Given the description of an element on the screen output the (x, y) to click on. 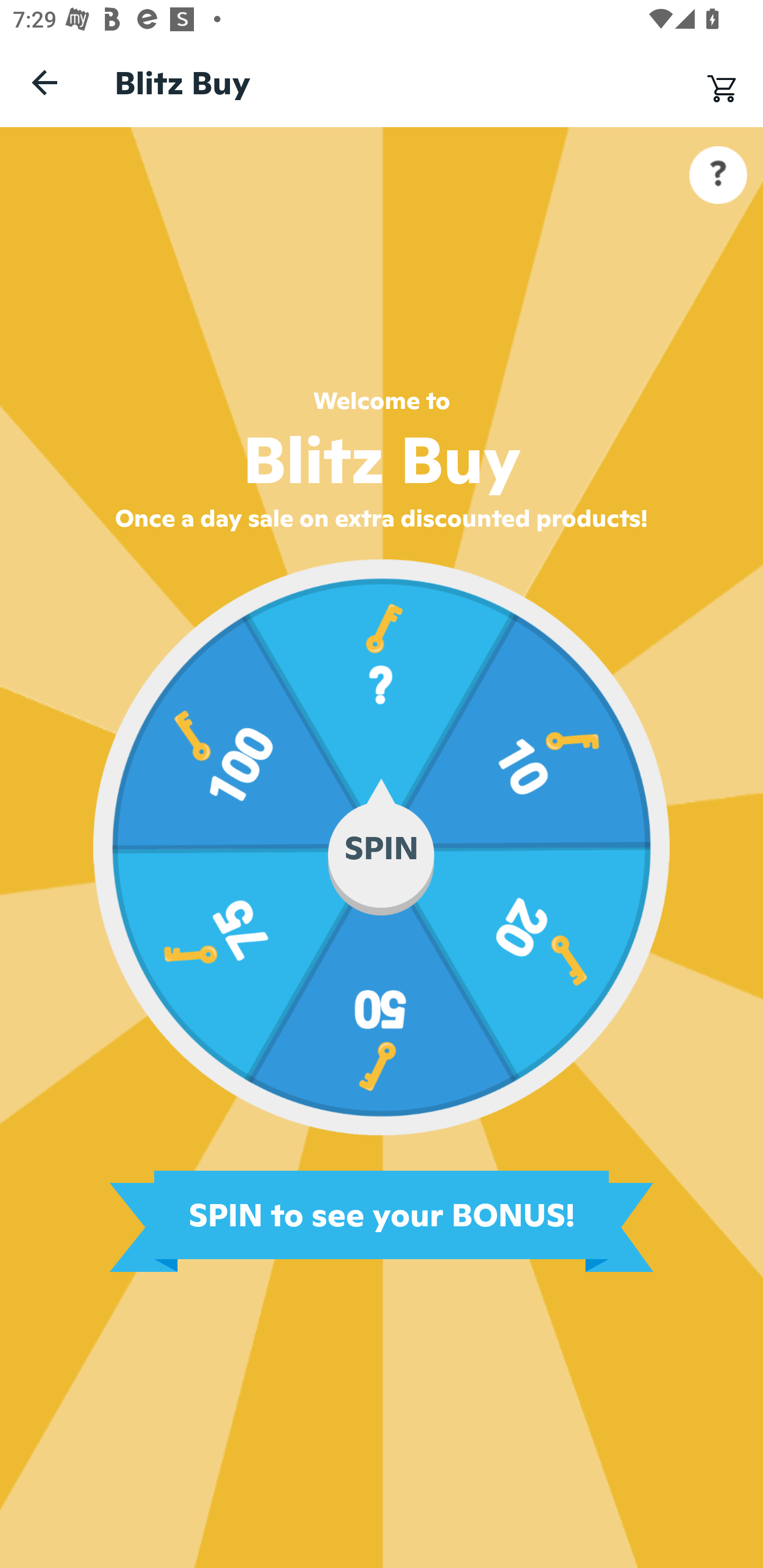
Navigate up (44, 82)
SPIN (381, 847)
